Given the description of an element on the screen output the (x, y) to click on. 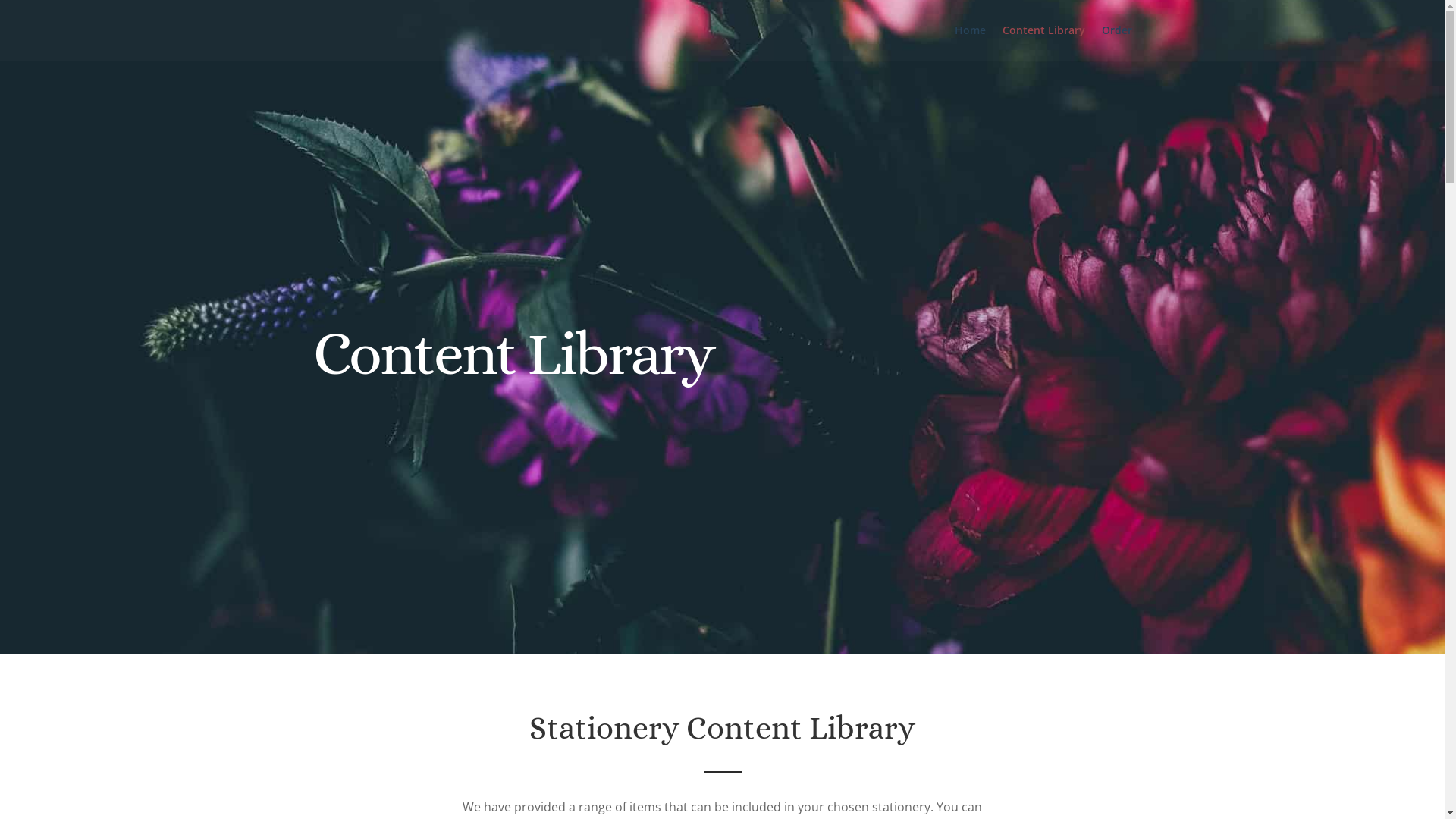
Home Element type: text (969, 42)
Order Element type: text (1116, 42)
Content Library Element type: text (1043, 42)
